Given the description of an element on the screen output the (x, y) to click on. 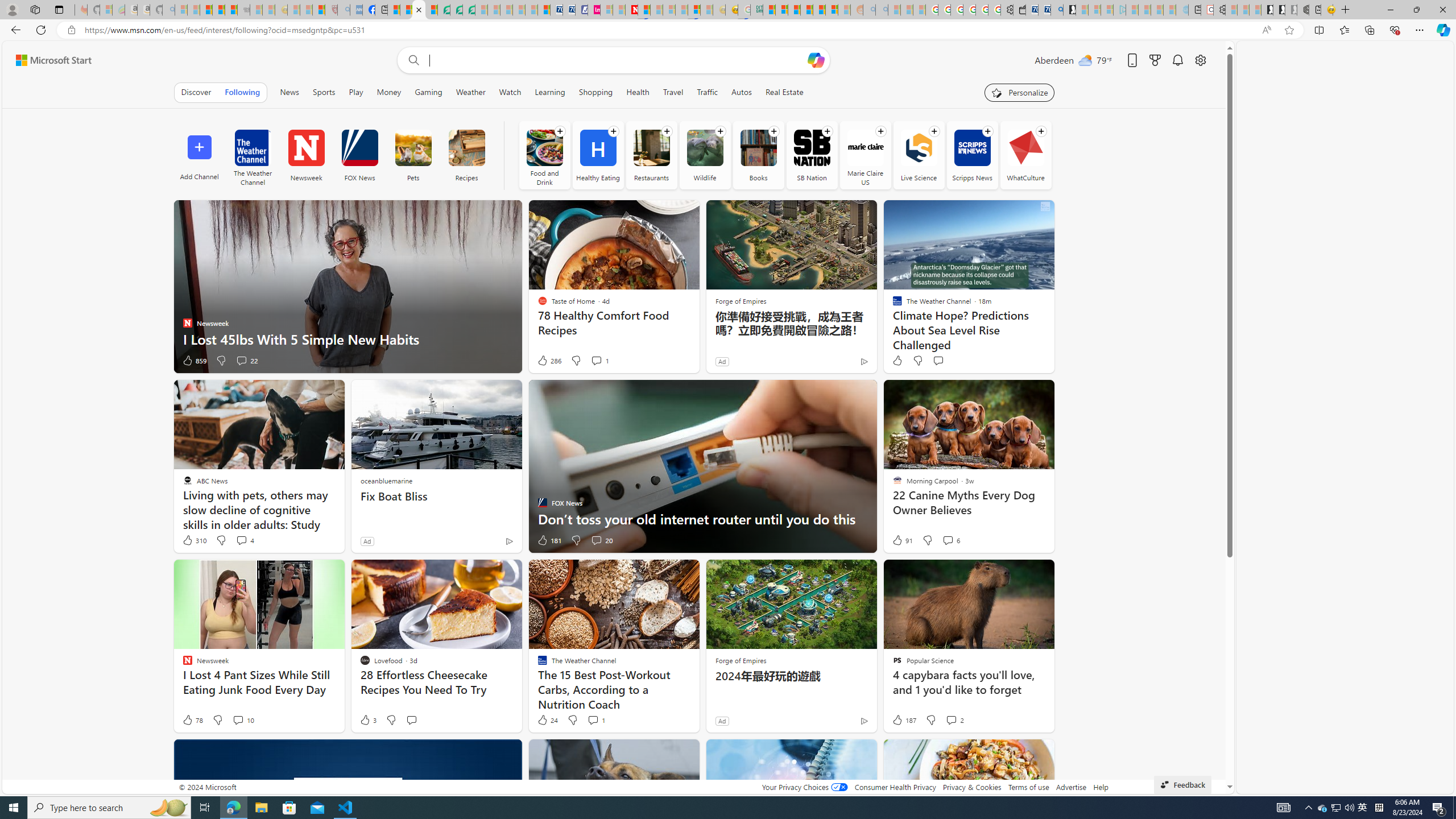
View comments 6 Comment (950, 539)
Follow channel (1040, 130)
Scripps News (972, 155)
FOX News (359, 147)
